Given the description of an element on the screen output the (x, y) to click on. 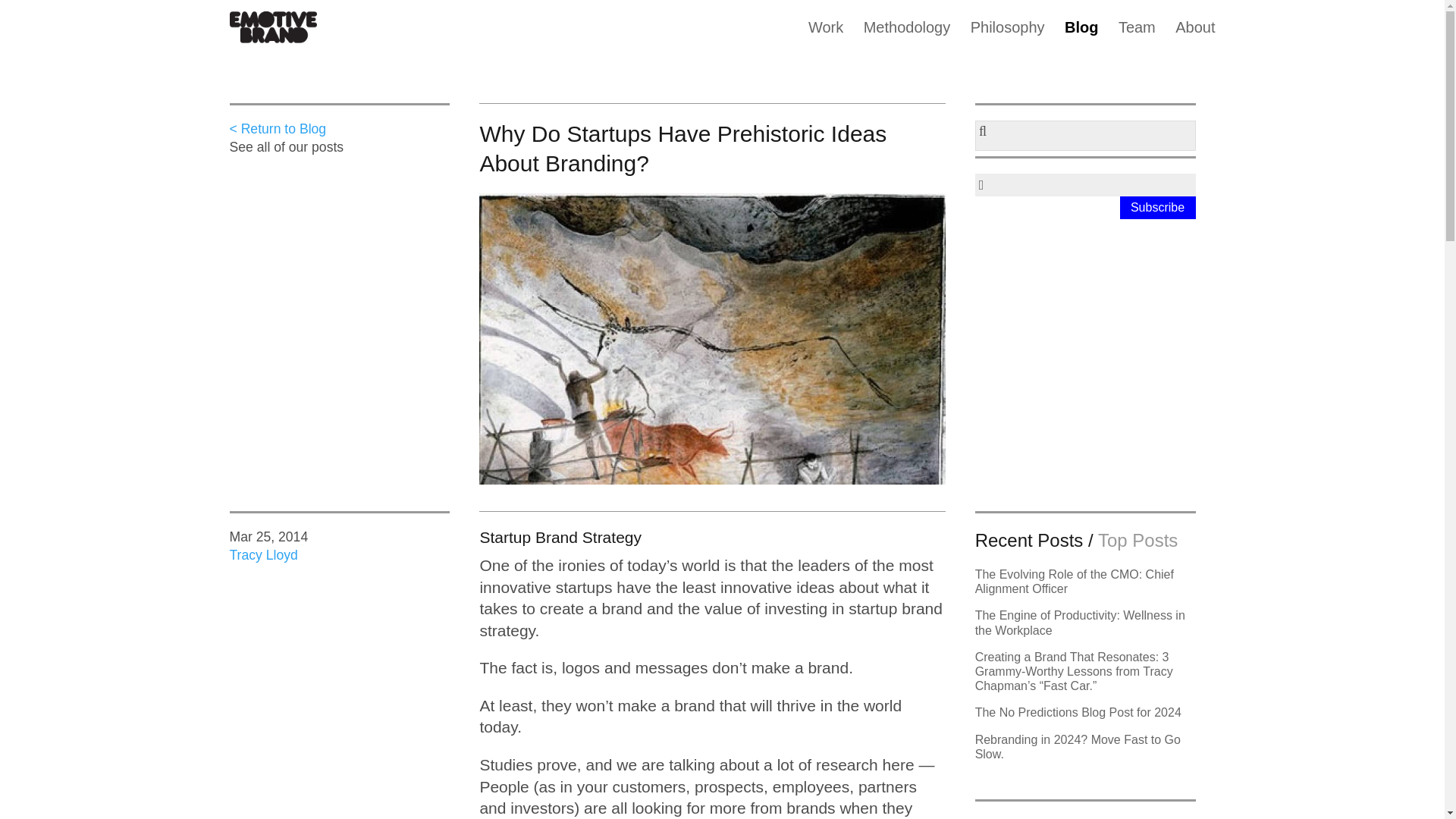
Blog (1080, 35)
The Engine of Productivity: Wellness in the Workplace (1080, 622)
Rebranding in 2024? Move Fast to Go Slow. (1077, 746)
Subscribe (1157, 207)
Search (26, 15)
Philosophy (1008, 35)
Work (825, 35)
Methodology (906, 35)
The No Predictions Blog Post for 2024 (1077, 712)
About (1194, 35)
Tracy Lloyd (262, 554)
Subscribe (1157, 207)
Team (1137, 35)
The Evolving Role of the CMO: Chief Alignment Officer (1074, 581)
